Given the description of an element on the screen output the (x, y) to click on. 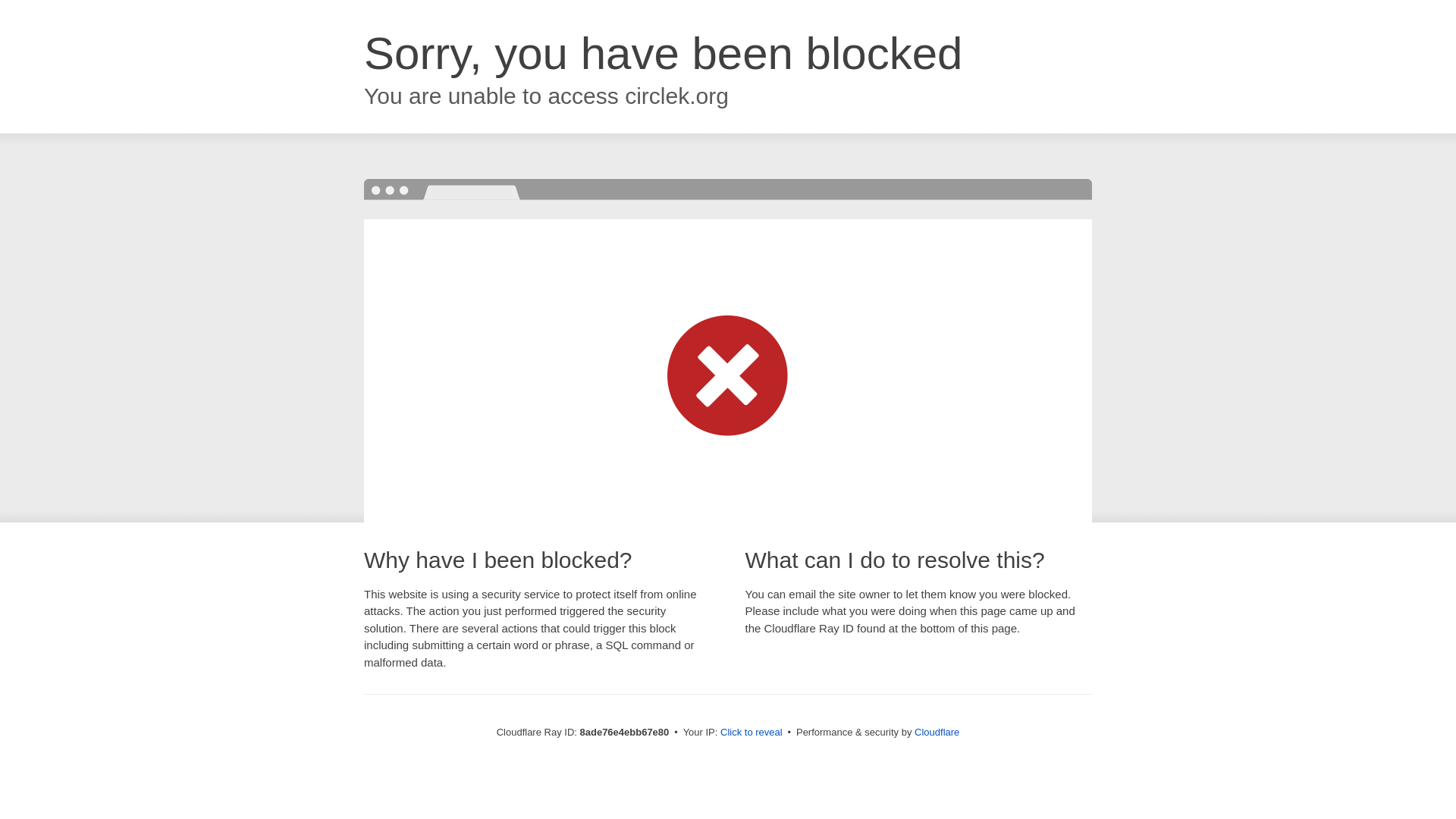
Click to reveal (751, 732)
Cloudflare (936, 731)
